Given the description of an element on the screen output the (x, y) to click on. 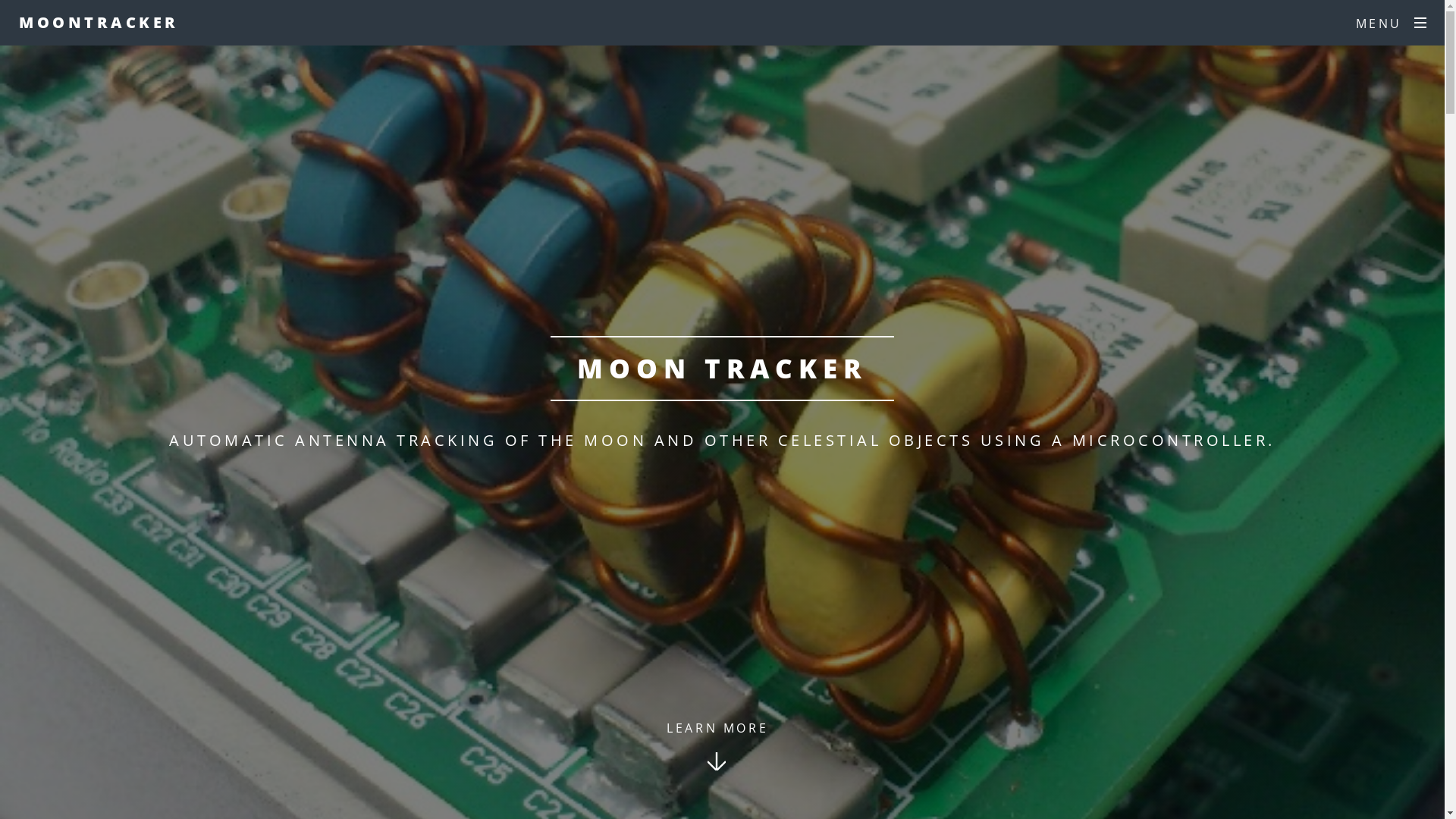
MOONTRACKER Element type: text (98, 22)
MENU Element type: text (1390, 23)
